Given the description of an element on the screen output the (x, y) to click on. 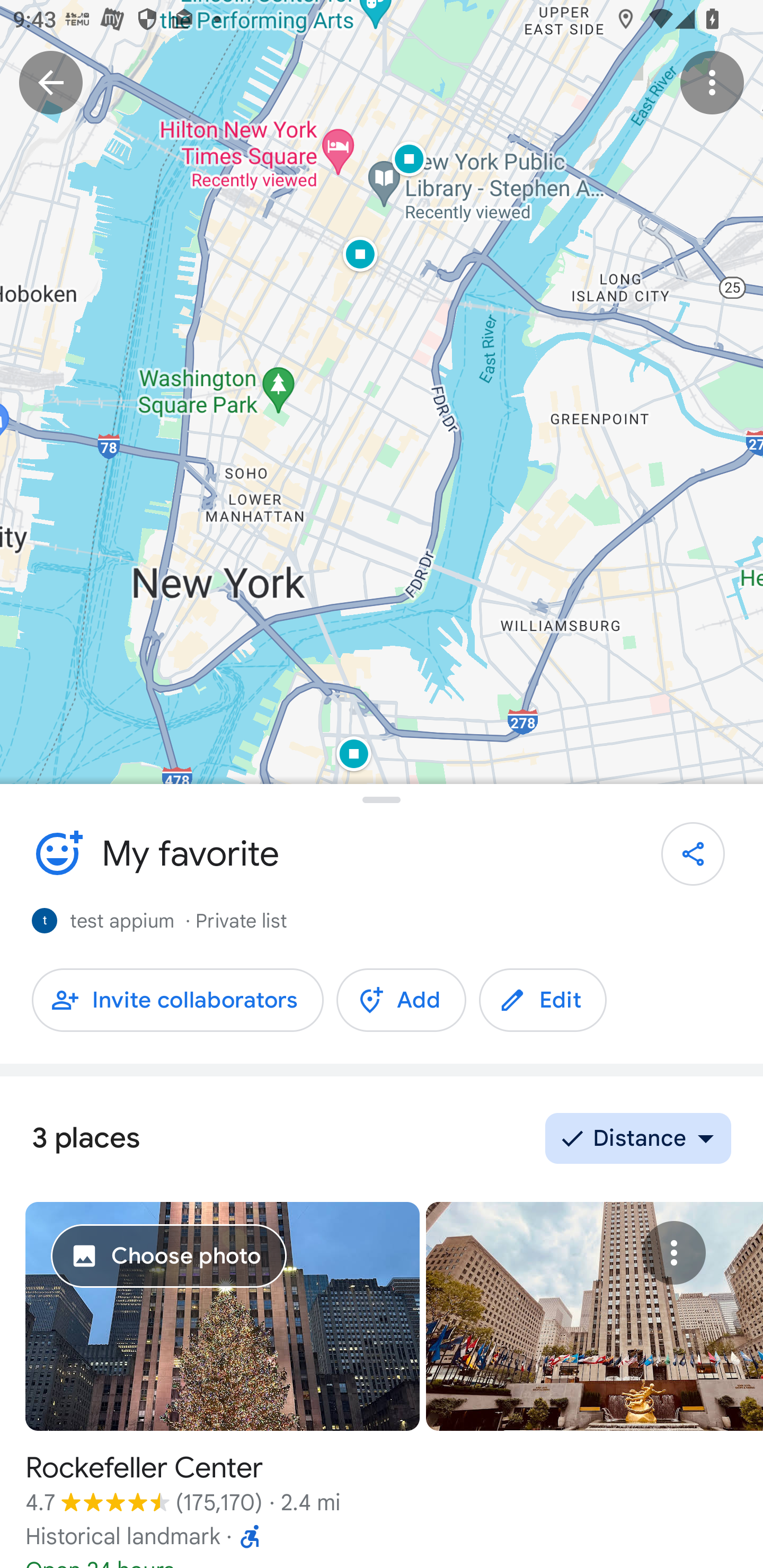
Navigate up (50, 81)
Overflow menu (711, 81)
Share (692, 853)
Edit list (57, 853)
Add Add Add (401, 1000)
Edit Edit Edit (542, 1000)
Distance Distance Distance (637, 1138)
Photo (222, 1316)
Photo (594, 1316)
Overflow menu for Rockefeller Center (673, 1252)
